Given the description of an element on the screen output the (x, y) to click on. 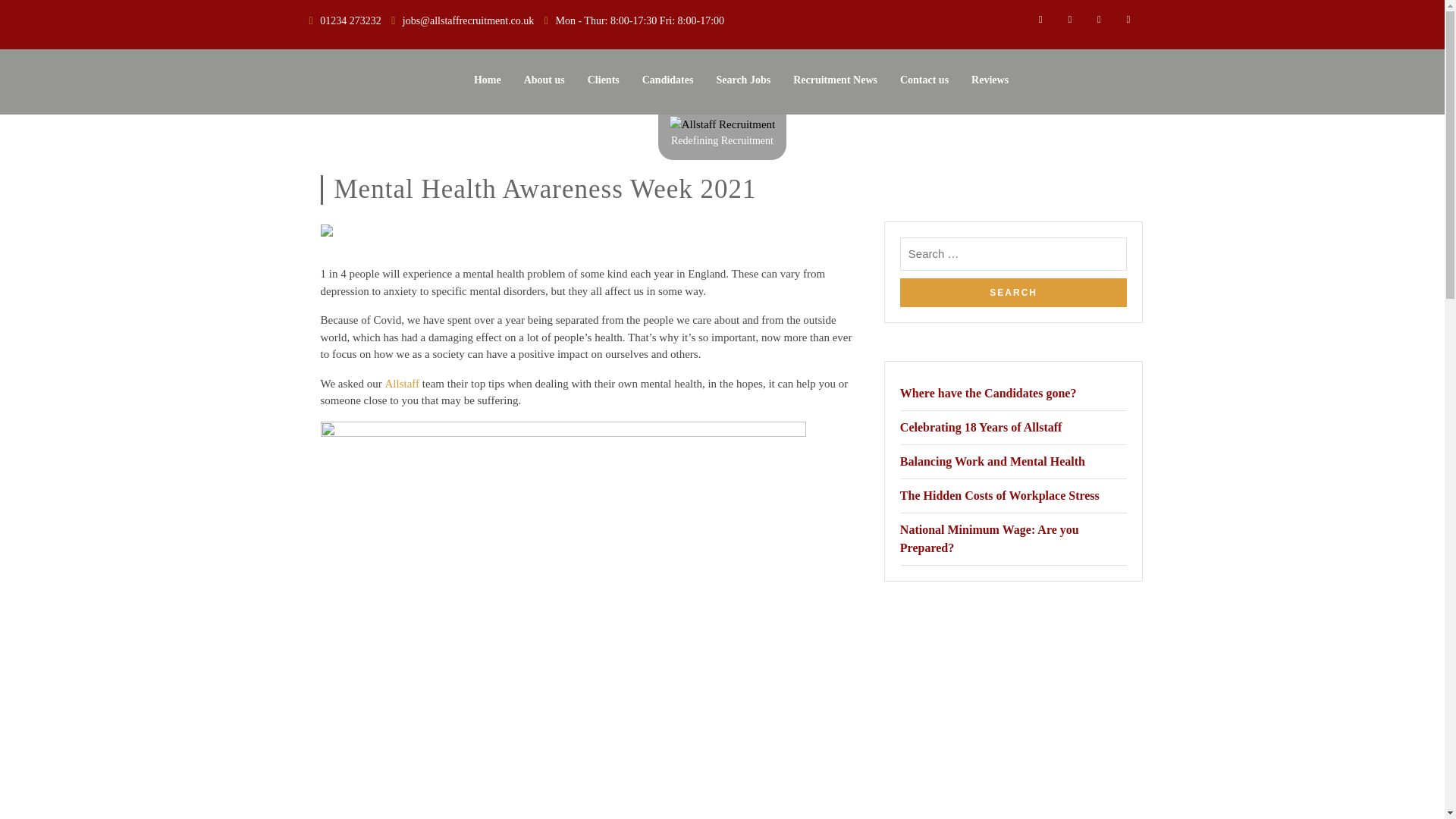
Allstaff (403, 383)
Candidates (668, 79)
About us (544, 79)
Search (1012, 292)
Recruitment News (835, 79)
Search Jobs (743, 79)
Clients (604, 79)
Contact us (924, 79)
Search (1012, 292)
Search (1012, 292)
Where have the Candidates gone? (988, 392)
Reviews (990, 79)
Home (487, 79)
